Given the description of an element on the screen output the (x, y) to click on. 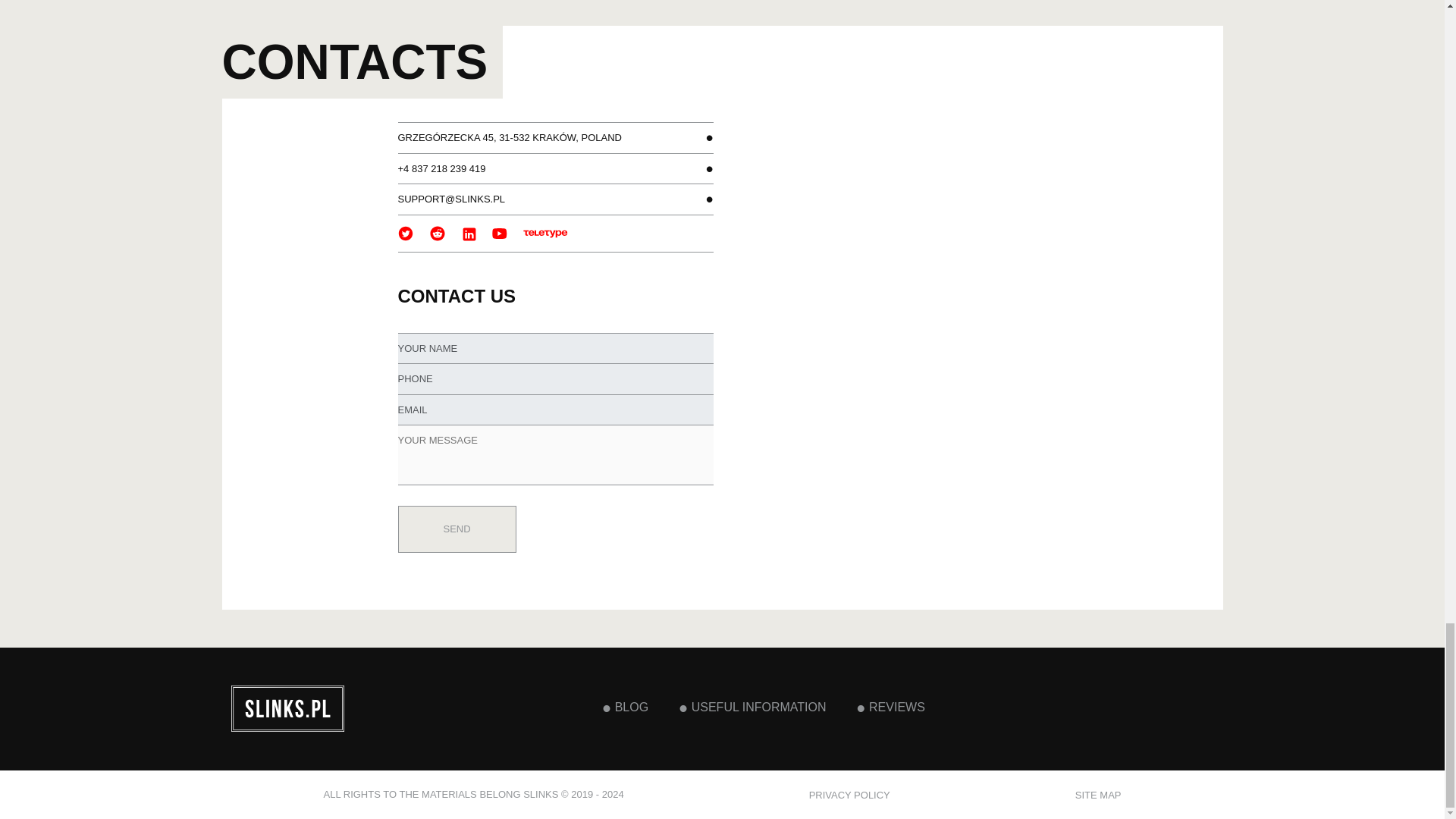
Linkedin (469, 233)
YouTube (501, 232)
Teletype (545, 232)
Reddit (437, 233)
Twitter (405, 232)
Twitter (404, 233)
PRIVACY POLICY (849, 794)
Reddit (438, 232)
Send (456, 529)
YouTube (500, 233)
